Given the description of an element on the screen output the (x, y) to click on. 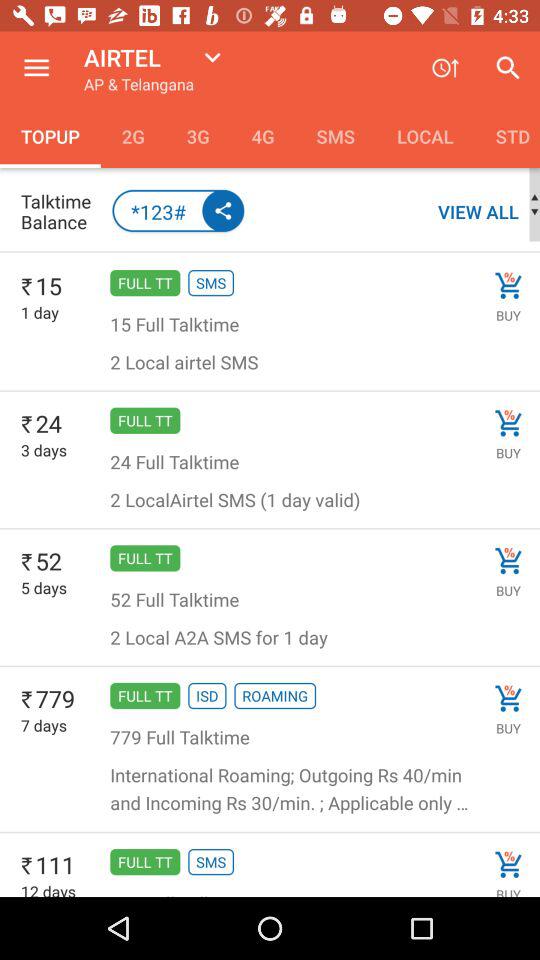
turn off item next to 52 full talktime icon (508, 560)
